Given the description of an element on the screen output the (x, y) to click on. 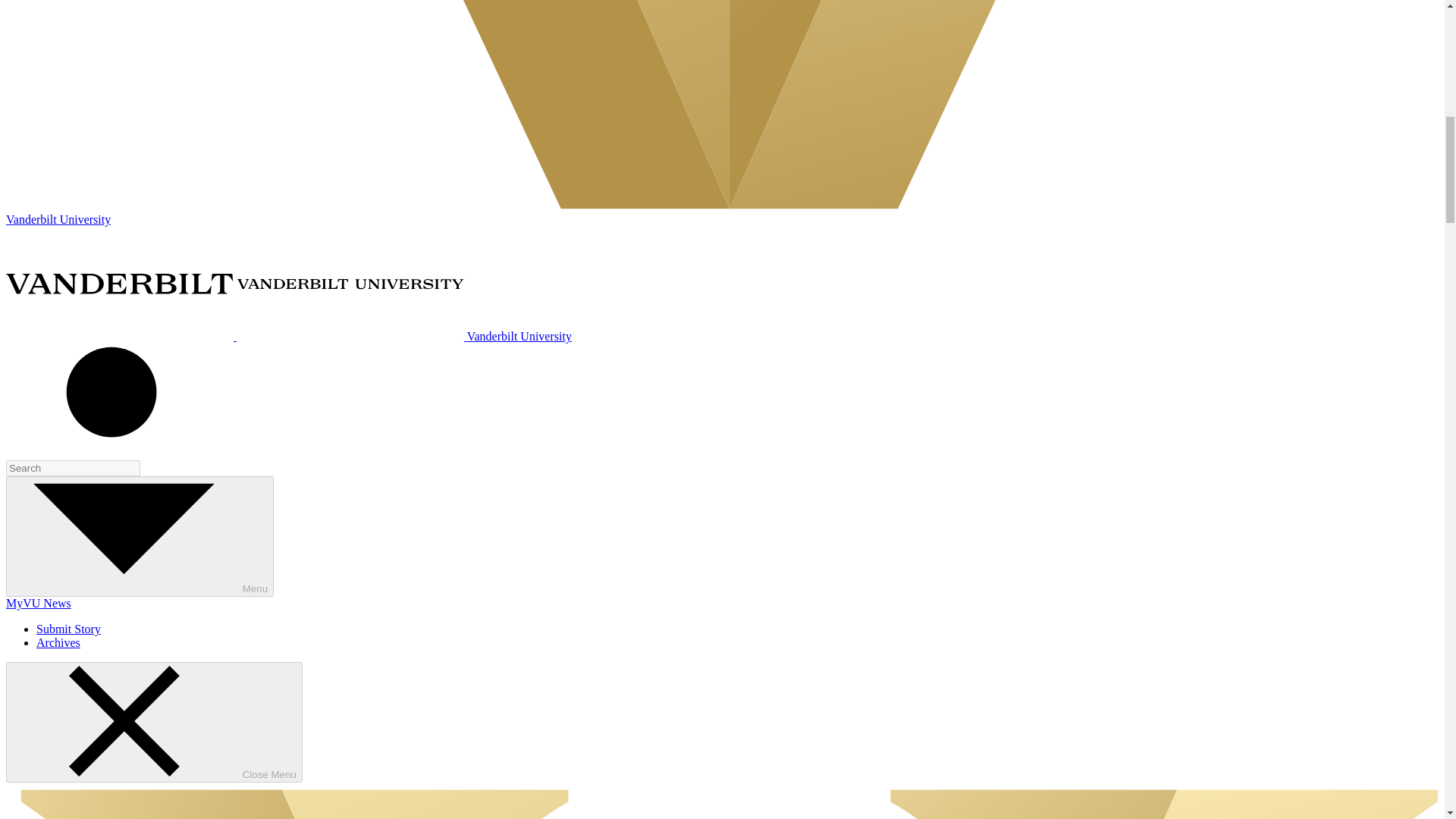
Submit Story (68, 628)
Menu (139, 536)
MyVU News (38, 603)
Close Menu (153, 721)
Archives (58, 642)
Vanderbilt University (288, 336)
